Given the description of an element on the screen output the (x, y) to click on. 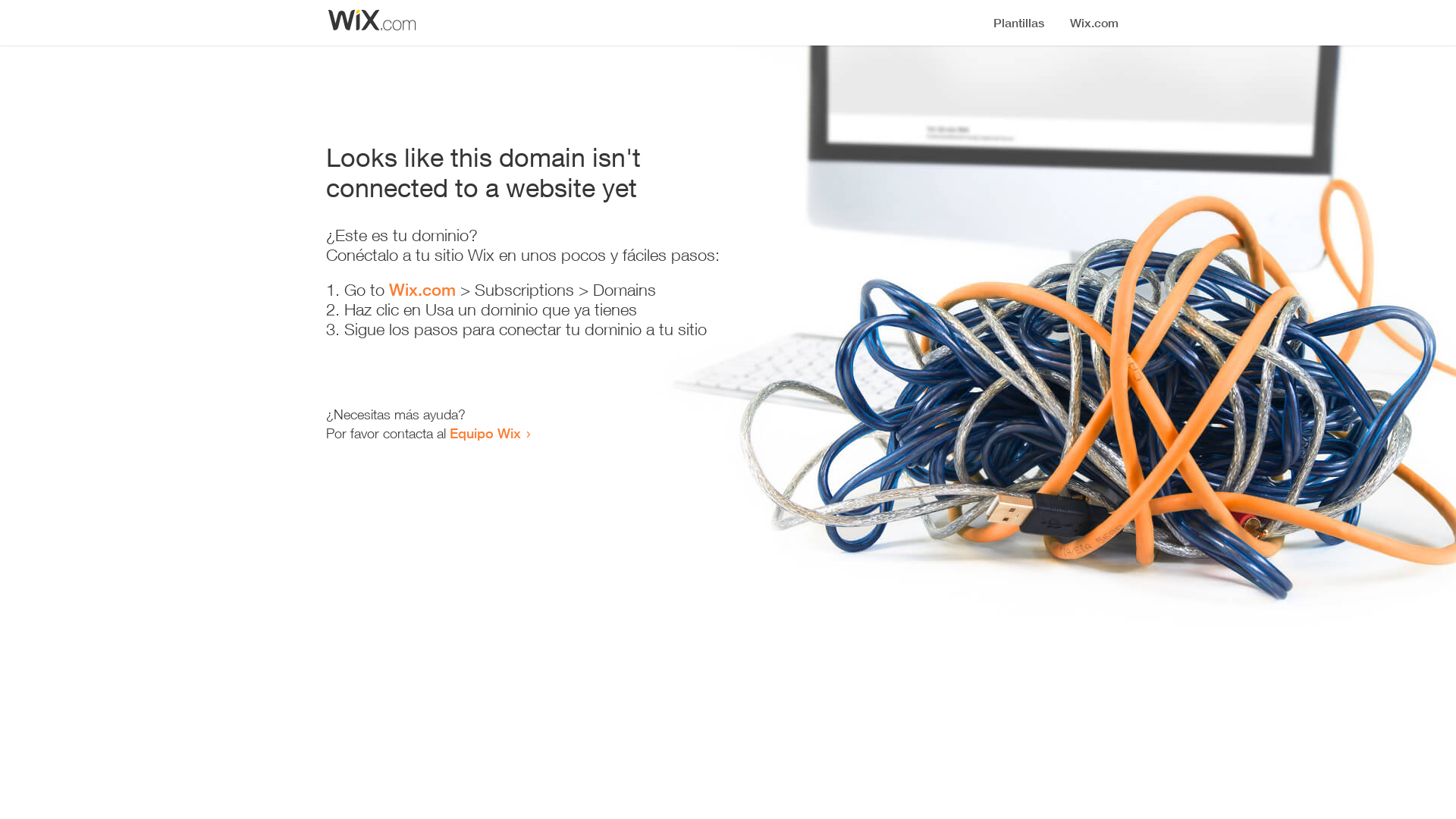
Equipo Wix Element type: text (484, 432)
Wix.com Element type: text (422, 289)
